Given the description of an element on the screen output the (x, y) to click on. 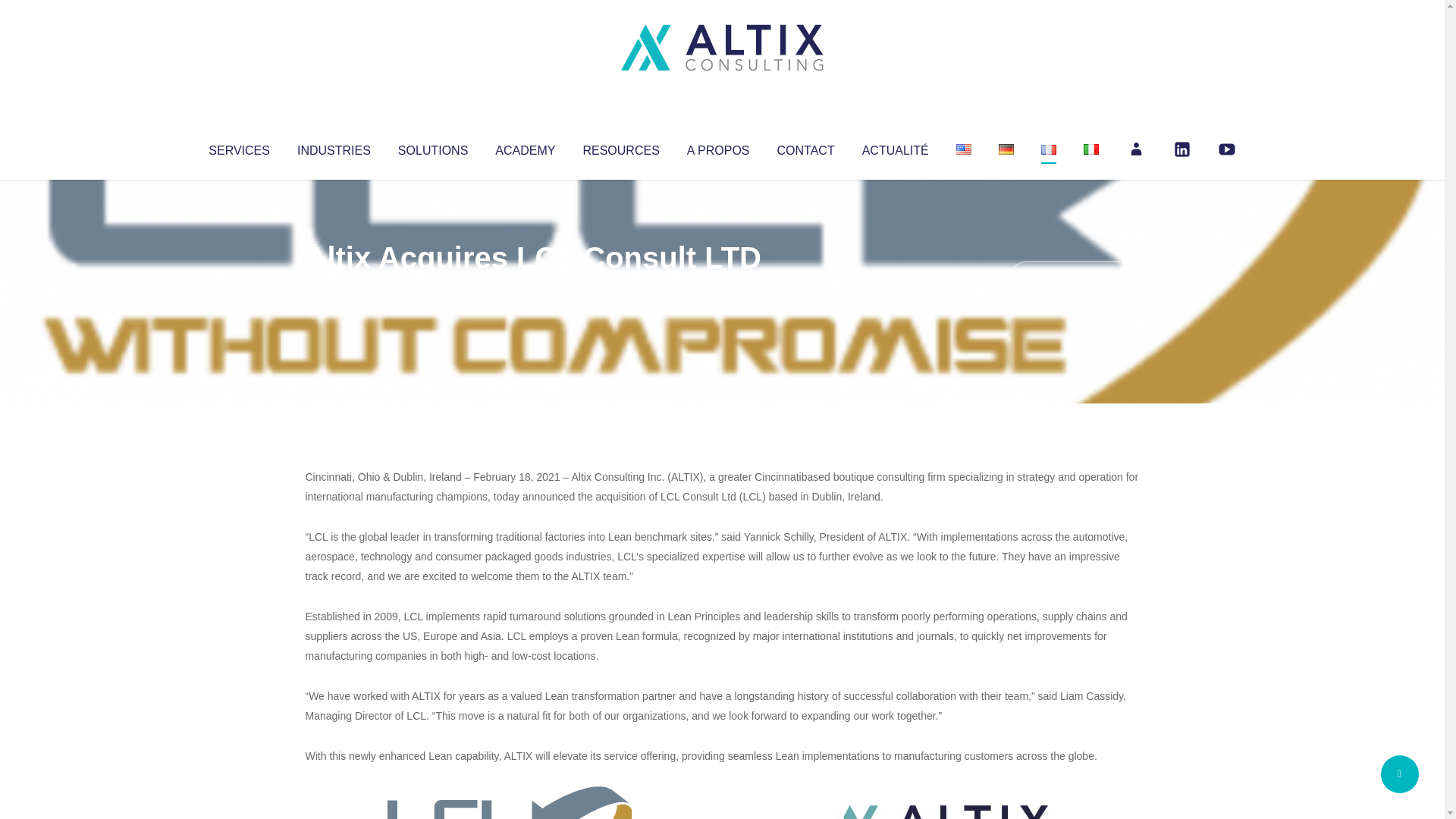
Uncategorized (530, 287)
INDUSTRIES (334, 146)
SOLUTIONS (432, 146)
Articles par Altix (333, 287)
No Comments (1073, 278)
SERVICES (238, 146)
RESOURCES (620, 146)
A PROPOS (718, 146)
ACADEMY (524, 146)
Altix (333, 287)
